Given the description of an element on the screen output the (x, y) to click on. 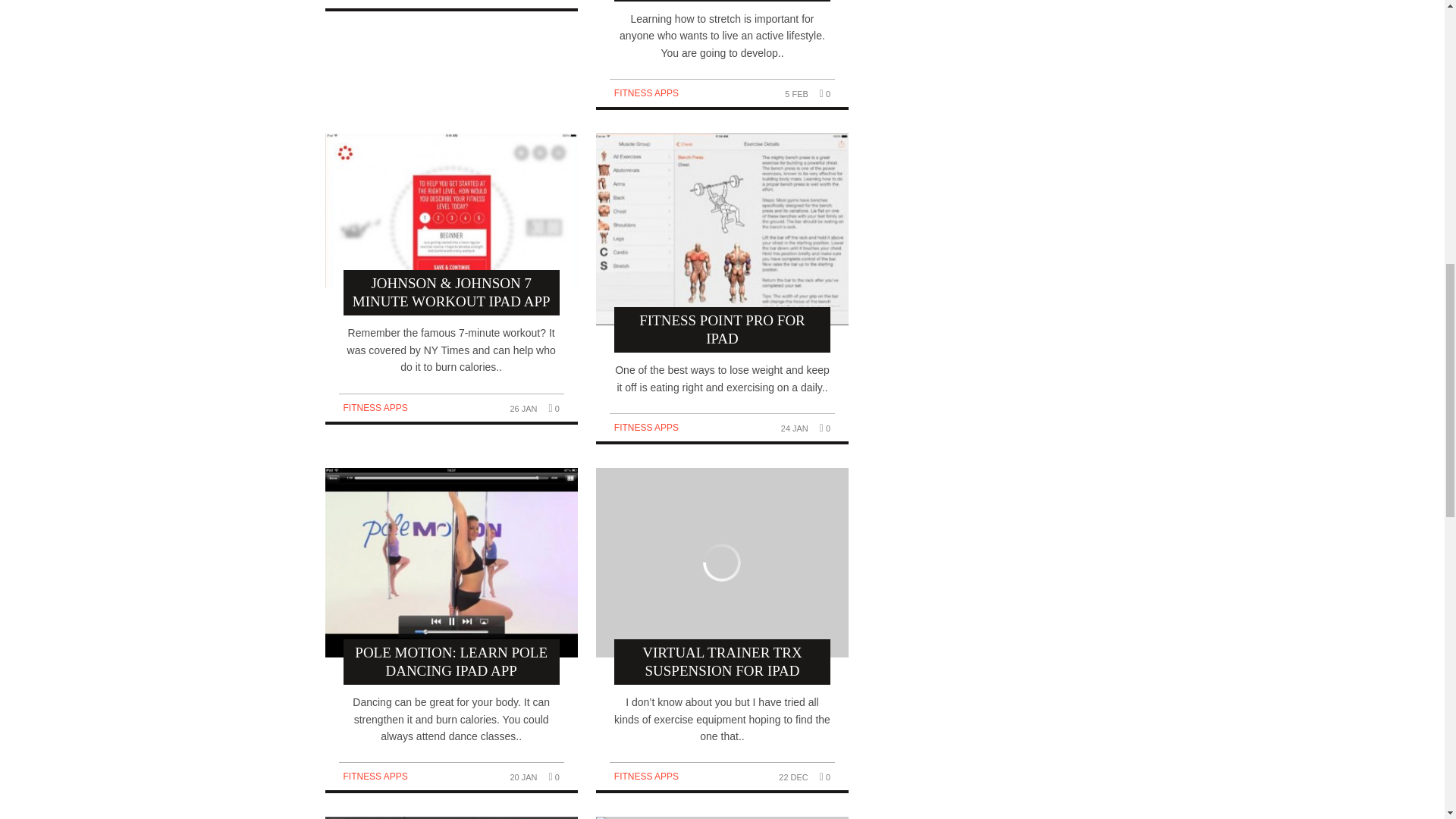
View all posts in Fitness Apps (374, 776)
View all posts in Fitness Apps (646, 427)
View all posts in Fitness Apps (646, 776)
View all posts in Fitness Apps (374, 407)
View all posts in Fitness Apps (646, 92)
